Given the description of an element on the screen output the (x, y) to click on. 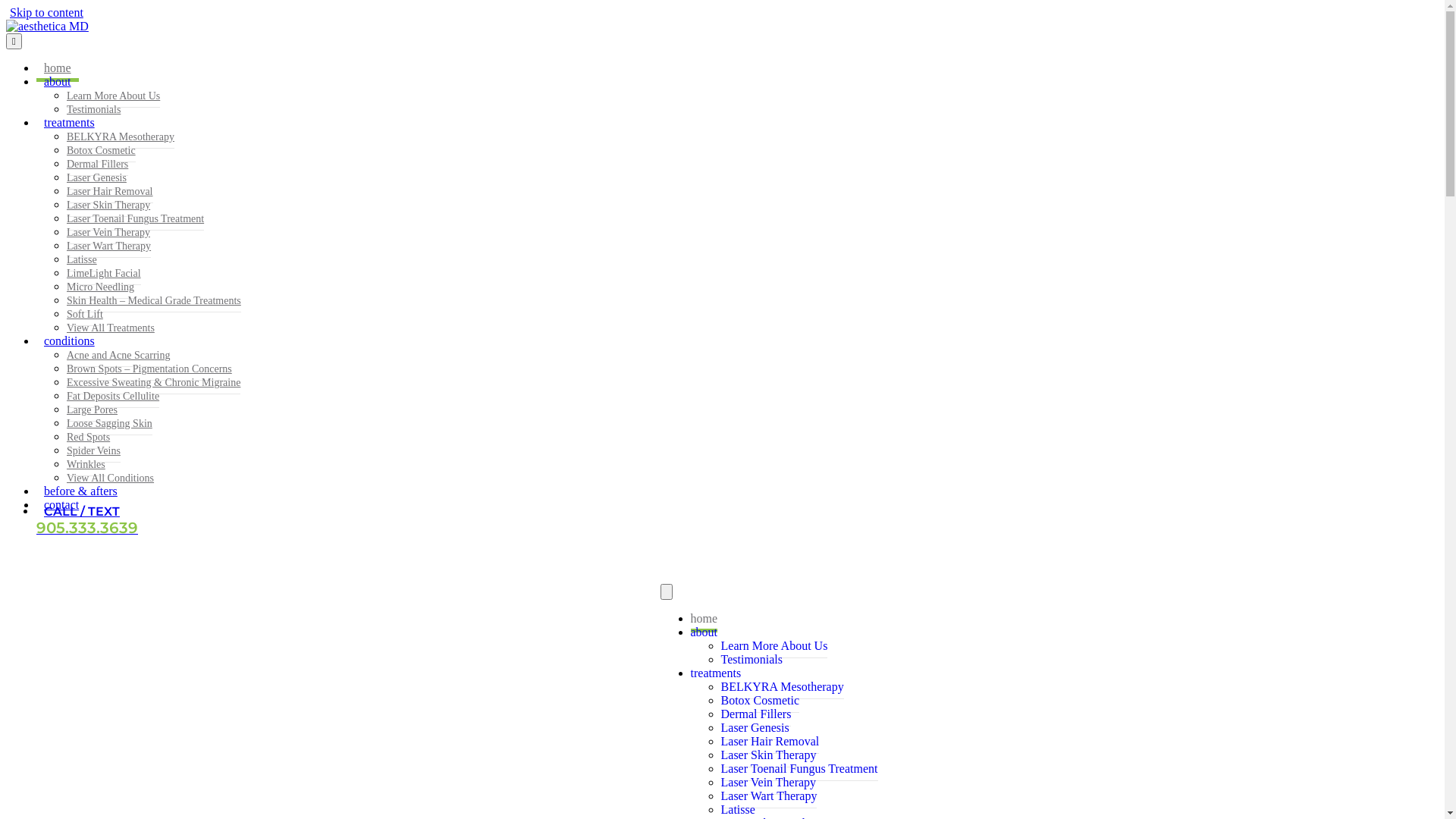
Testimonials Element type: text (93, 109)
contact Element type: text (61, 504)
Testimonials Element type: text (751, 659)
Learn More About Us Element type: text (773, 645)
Excessive Sweating & Chronic Migraine Element type: text (153, 382)
treatments Element type: text (715, 672)
Skip to content Element type: text (46, 12)
Laser Hair Removal Element type: text (109, 191)
Botox Cosmetic Element type: text (100, 150)
Laser Wart Therapy Element type: text (108, 246)
Laser Hair Removal Element type: text (769, 741)
Laser Skin Therapy Element type: text (108, 205)
LimeLight Facial Element type: text (103, 273)
Laser Skin Therapy Element type: text (767, 755)
conditions Element type: text (69, 340)
Laser Genesis Element type: text (96, 177)
Dermal Fillers Element type: text (97, 164)
Dermal Fillers Element type: text (755, 714)
home Element type: text (57, 67)
Large Pores Element type: text (91, 409)
Laser Vein Therapy Element type: text (767, 782)
Laser Genesis Element type: text (754, 727)
Latisse Element type: text (81, 259)
Laser Vein Therapy Element type: text (108, 232)
Acne and Acne Scarring Element type: text (117, 355)
Learn More About Us Element type: text (113, 95)
BELKYRA Mesotherapy Element type: text (781, 686)
Menu Element type: text (13, 41)
BELKYRA Mesotherapy Element type: text (120, 136)
about Element type: text (703, 631)
Laser Toenail Fungus Treatment Element type: text (798, 768)
Red Spots Element type: text (87, 437)
Laser Toenail Fungus Treatment Element type: text (134, 218)
treatments Element type: text (69, 122)
View All Treatments Element type: text (110, 327)
Loose Sagging Skin Element type: text (109, 423)
about Element type: text (57, 81)
before & afters Element type: text (80, 490)
Fat Deposits Cellulite Element type: text (112, 396)
Wrinkles Element type: text (85, 464)
View All Conditions Element type: text (109, 478)
Soft Lift Element type: text (84, 314)
Micro Needling Element type: text (100, 287)
Laser Wart Therapy Element type: text (768, 796)
Botox Cosmetic Element type: text (759, 700)
CALL / TEXT
905.333.3639 Element type: text (90, 519)
home Element type: text (703, 621)
Spider Veins Element type: text (93, 450)
